Given the description of an element on the screen output the (x, y) to click on. 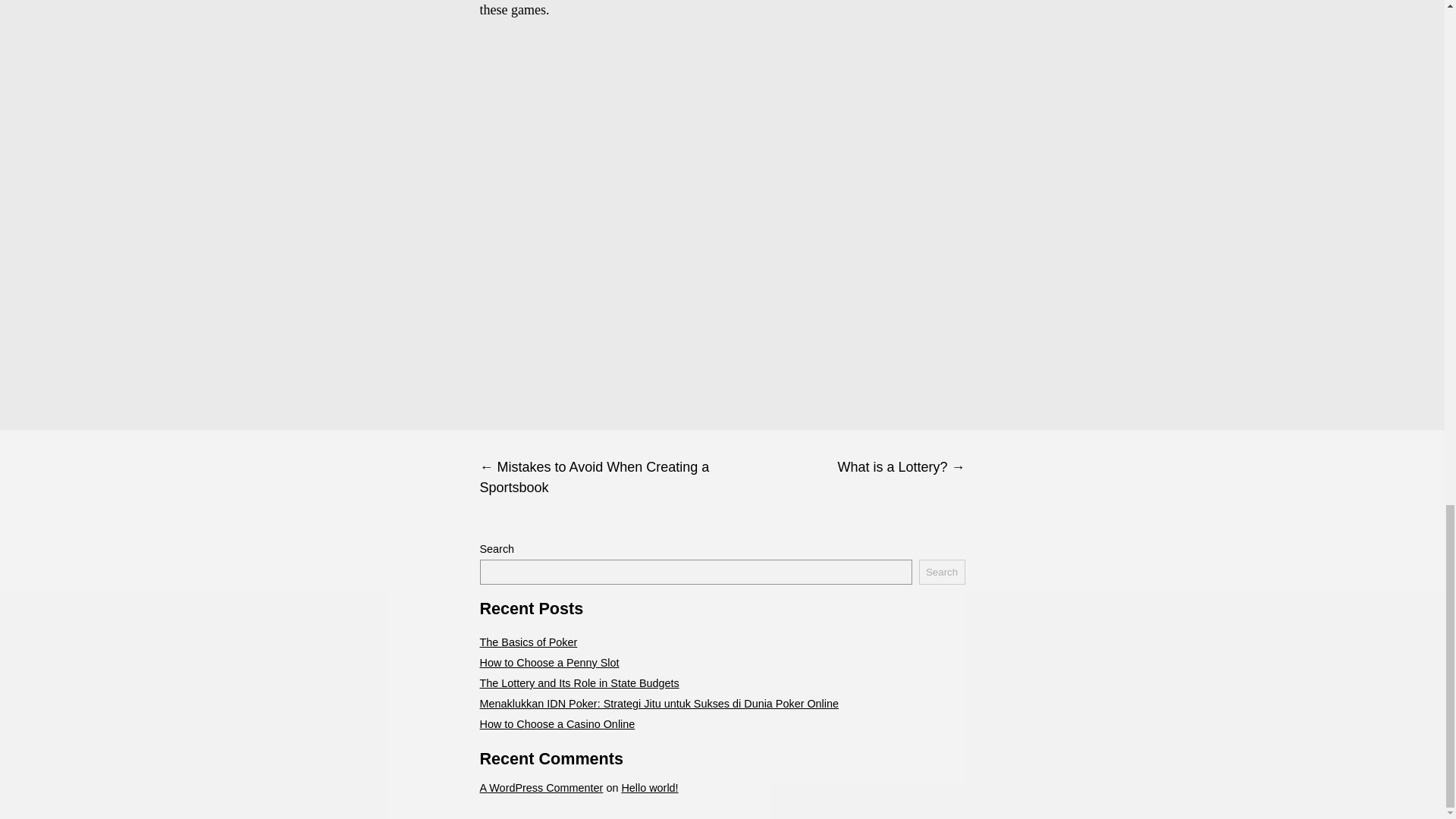
Mistakes to Avoid When Creating a Sportsbook (600, 477)
How to Choose a Casino Online (556, 724)
What is a Lottery? (842, 467)
Hello world! (649, 787)
Search (941, 571)
The Basics of Poker (527, 642)
How to Choose a Penny Slot (548, 662)
The Lottery and Its Role in State Budgets (578, 683)
A WordPress Commenter (540, 787)
